Given the description of an element on the screen output the (x, y) to click on. 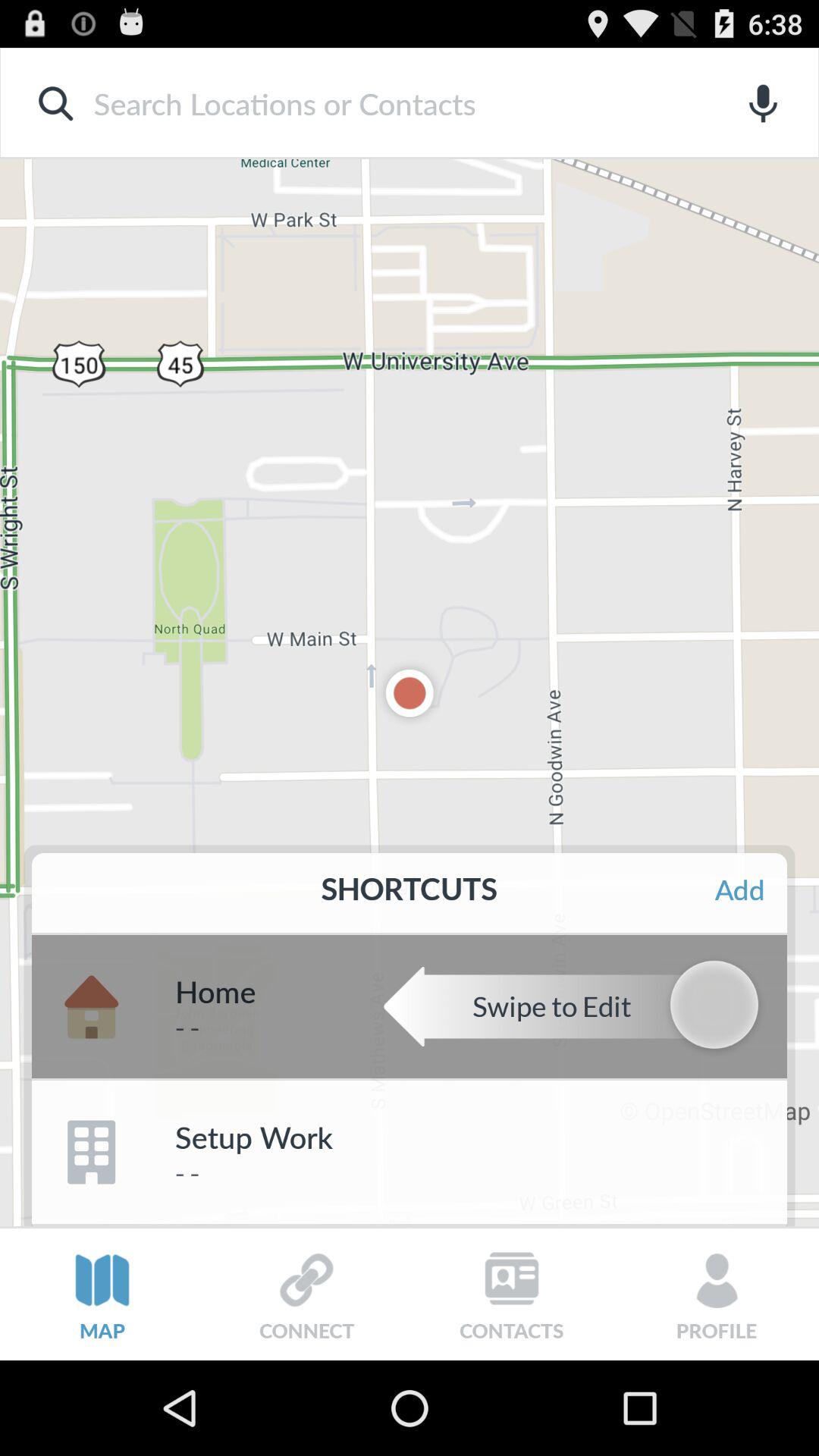
search box (385, 103)
